Given the description of an element on the screen output the (x, y) to click on. 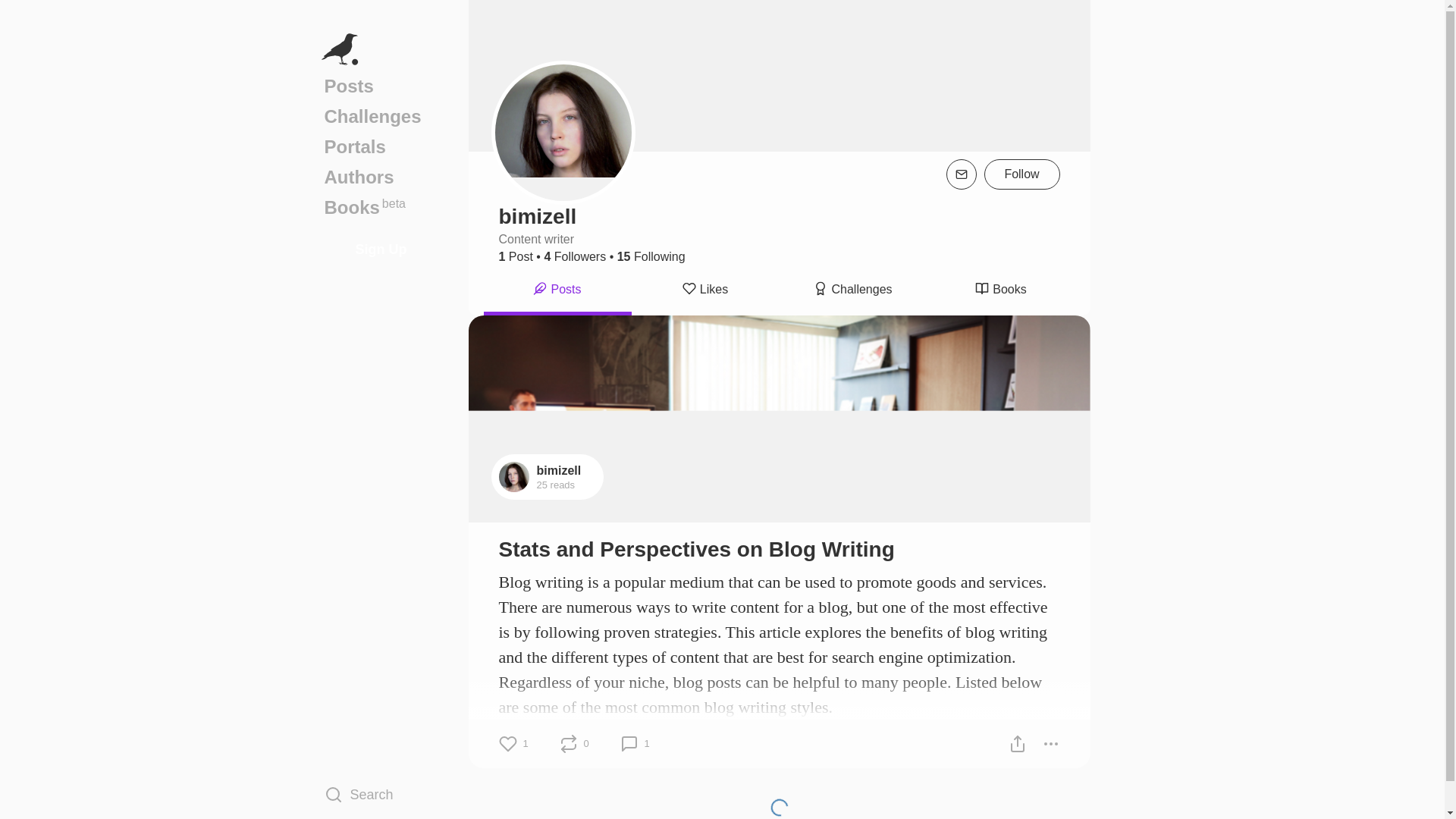
4 Followers (574, 256)
bimizell (558, 470)
Challenges (381, 116)
Books (1000, 291)
Search (381, 794)
Portals (381, 146)
Posts (381, 86)
15 Following (651, 256)
Authors (381, 177)
Challenges (852, 291)
